Given the description of an element on the screen output the (x, y) to click on. 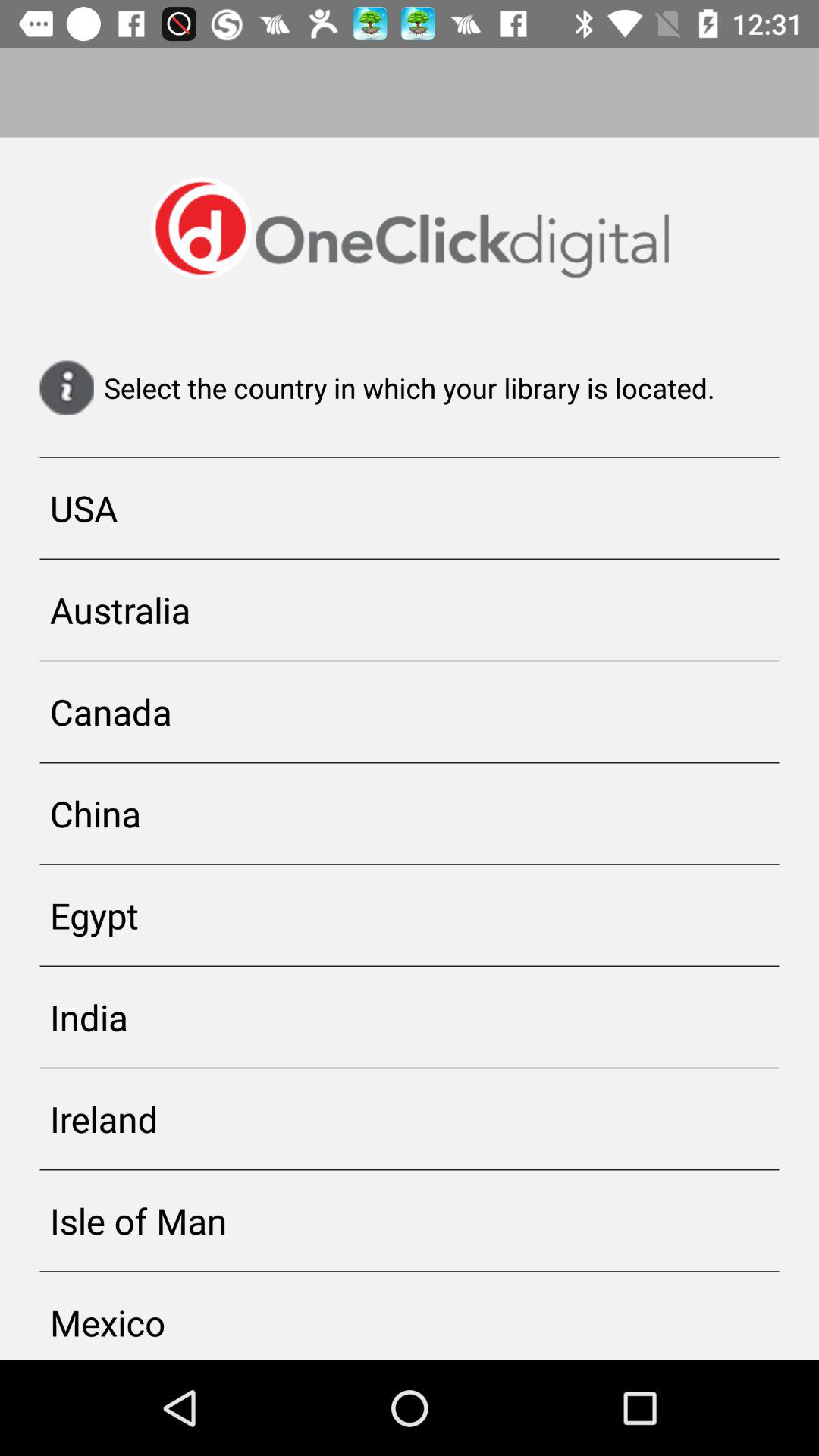
press the canada icon (409, 711)
